Given the description of an element on the screen output the (x, y) to click on. 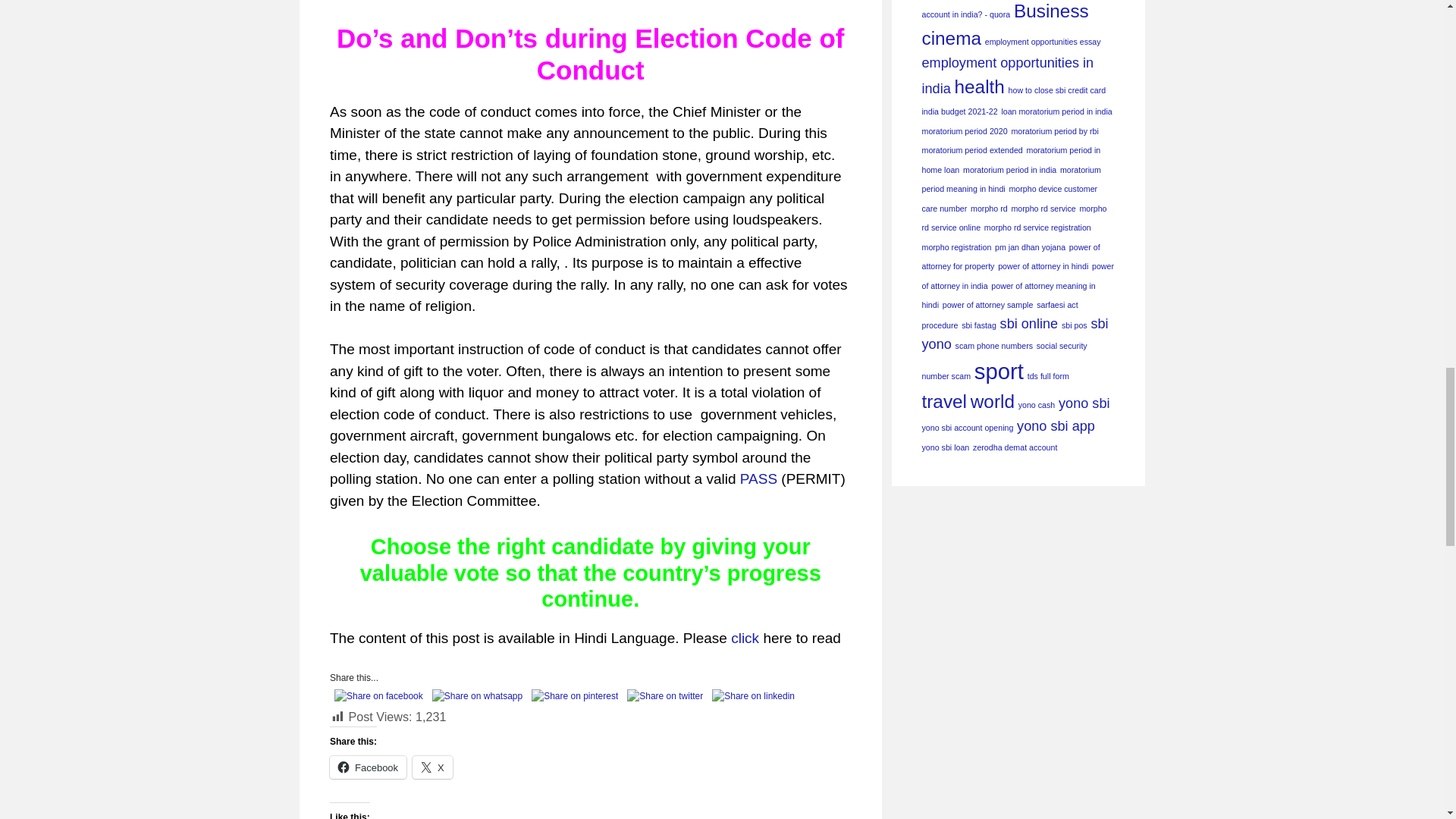
facebook (379, 695)
linkedin (753, 695)
whatsapp (477, 695)
X (432, 766)
Click to share on Facebook (368, 766)
pinterest (575, 695)
Facebook (368, 766)
Click to share on X (432, 766)
twitter (665, 695)
click (744, 637)
